Given the description of an element on the screen output the (x, y) to click on. 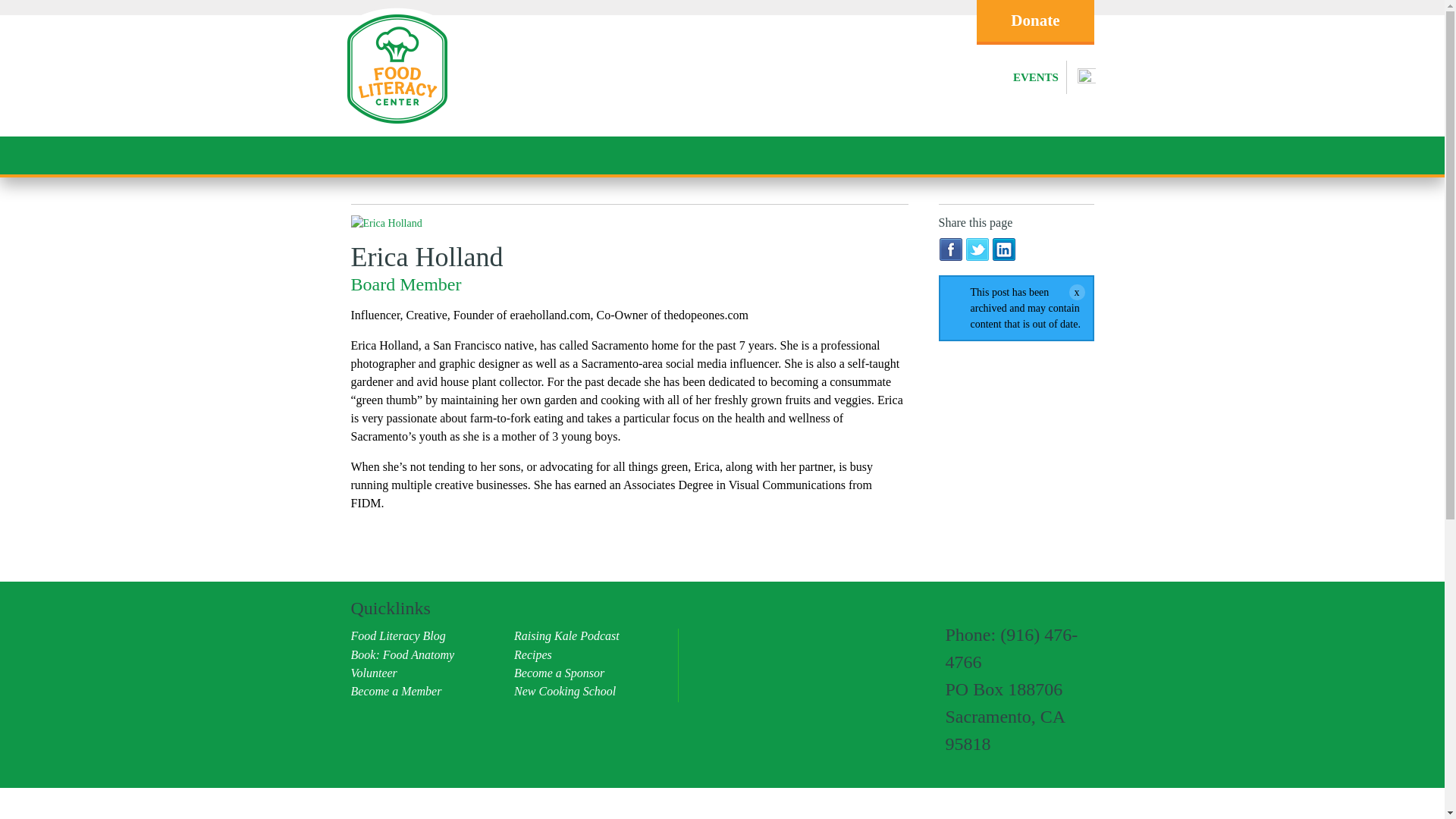
Events (1035, 76)
Donate (1034, 22)
Donate (1034, 22)
Home (395, 128)
EVENTS (1035, 76)
